Given the description of an element on the screen output the (x, y) to click on. 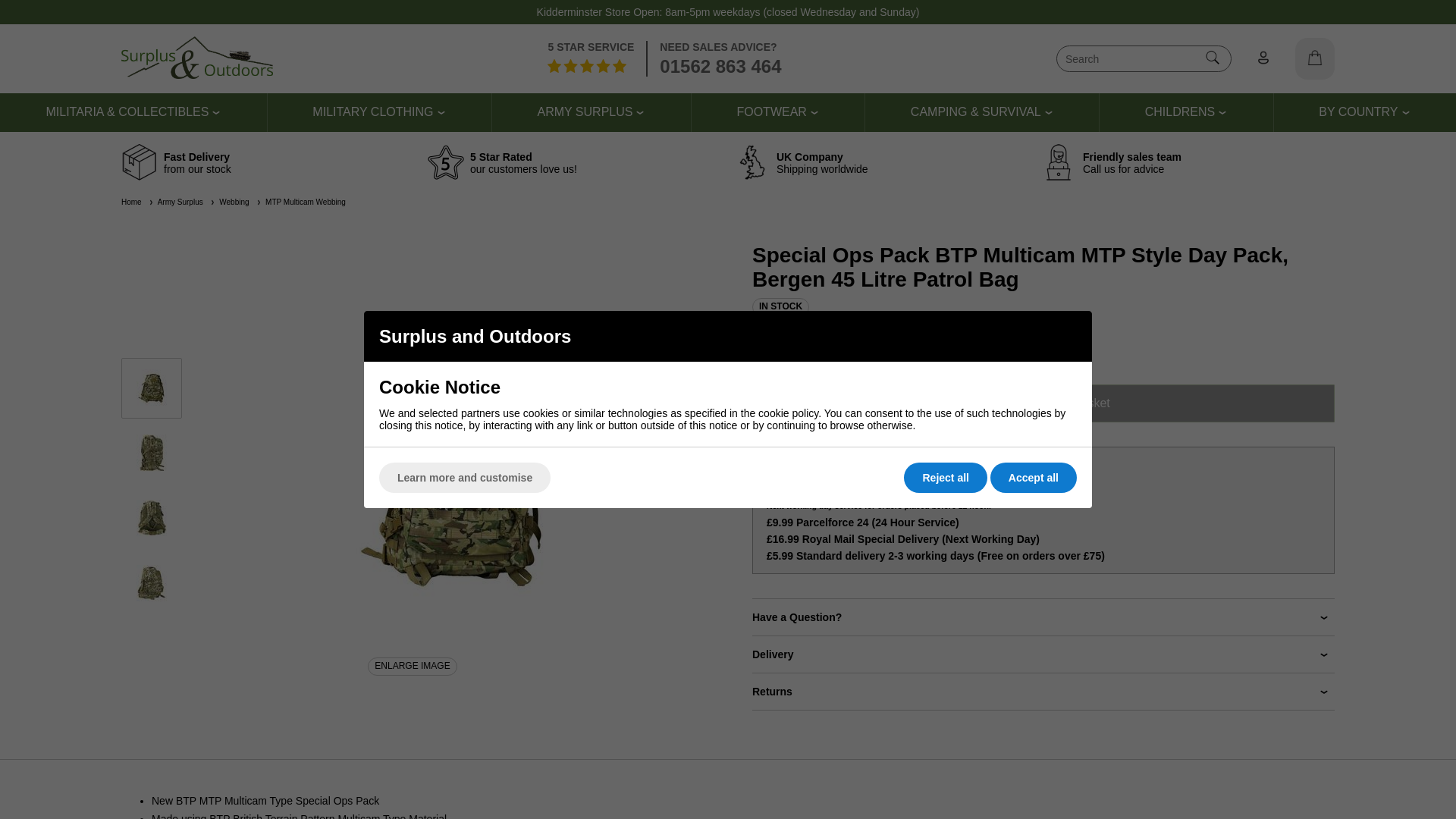
1 (774, 402)
01562 863 464 (719, 66)
FOOTWEAR (771, 111)
BY COUNTRY (1358, 111)
MILITARY CLOTHING (372, 111)
ARMY SURPLUS (584, 111)
CHILDRENS (1179, 111)
